Given the description of an element on the screen output the (x, y) to click on. 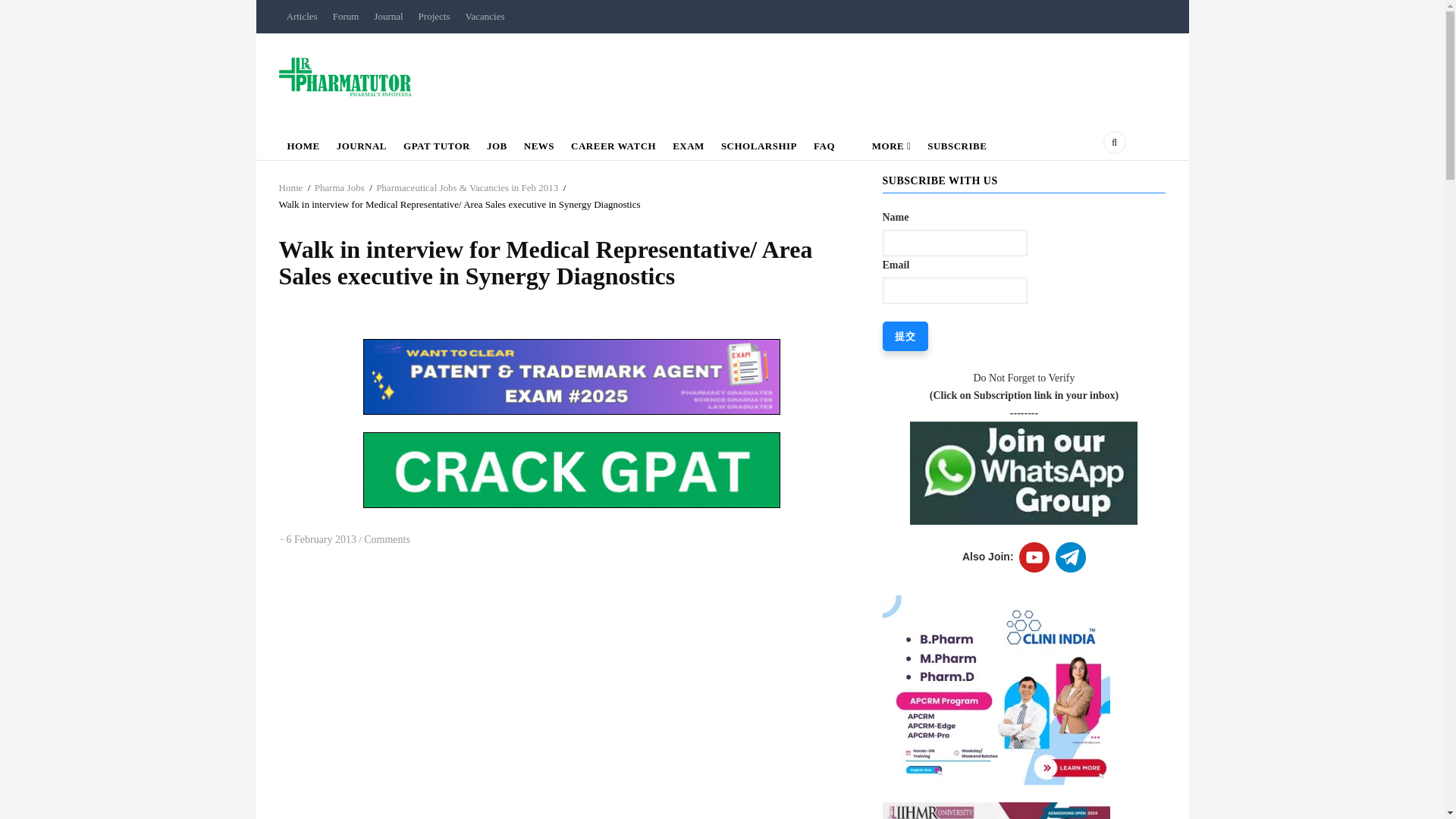
GPAT TUTOR (436, 142)
FAQ (824, 142)
JOB (497, 142)
Articles (301, 16)
EXAM (688, 142)
HOME (304, 142)
Home (345, 75)
Advertisement (571, 794)
NEWS (538, 142)
Journal (388, 16)
Pharma Jobs (339, 187)
Vacancies (485, 16)
Home (290, 187)
CAREER WATCH (612, 142)
